Given the description of an element on the screen output the (x, y) to click on. 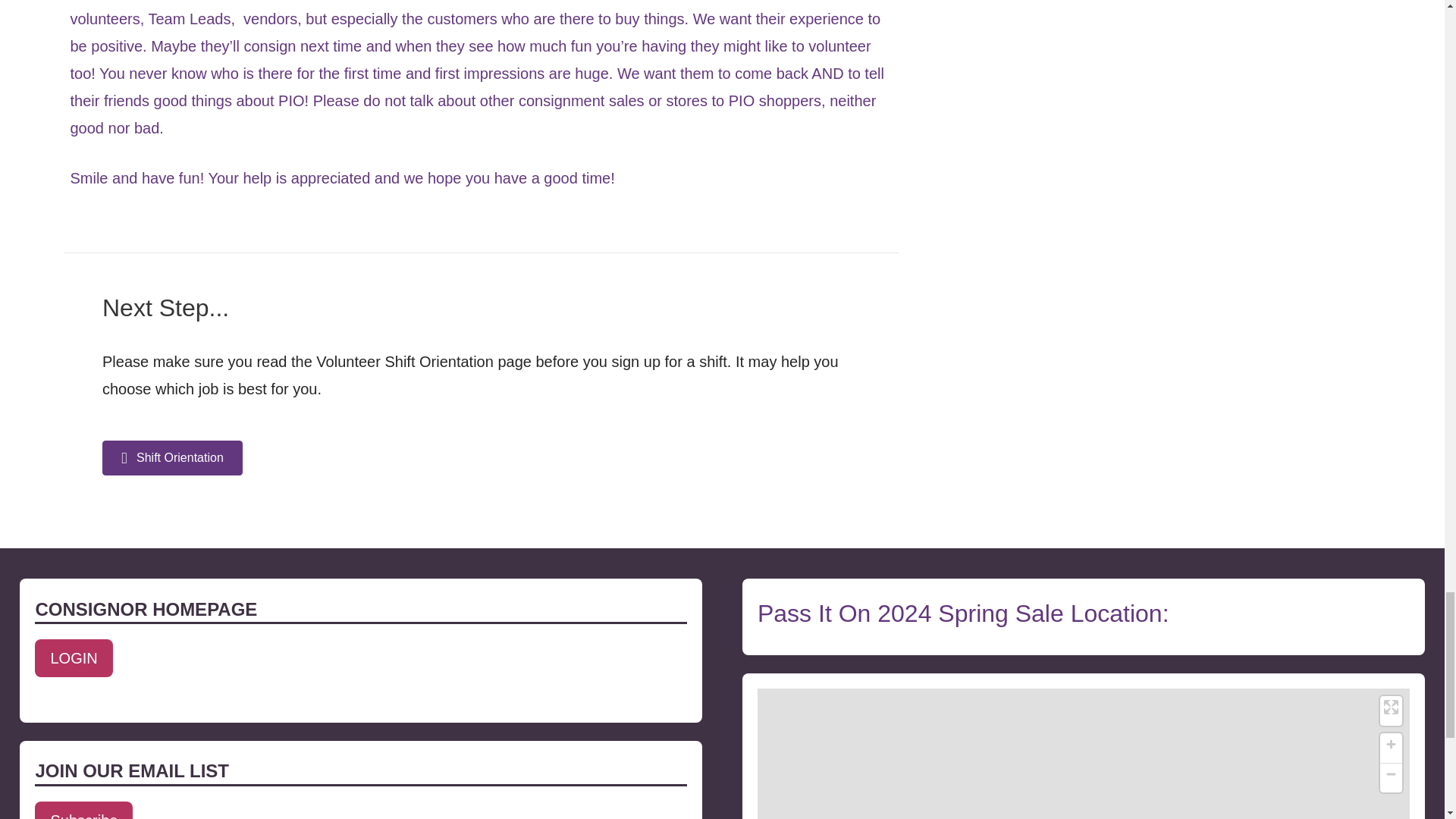
Zoom out (1391, 773)
LOGIN (73, 658)
Zoom in (1391, 744)
Enter fullscreen (1391, 707)
Subscribe (83, 810)
Shift Orientation (172, 457)
